Given the description of an element on the screen output the (x, y) to click on. 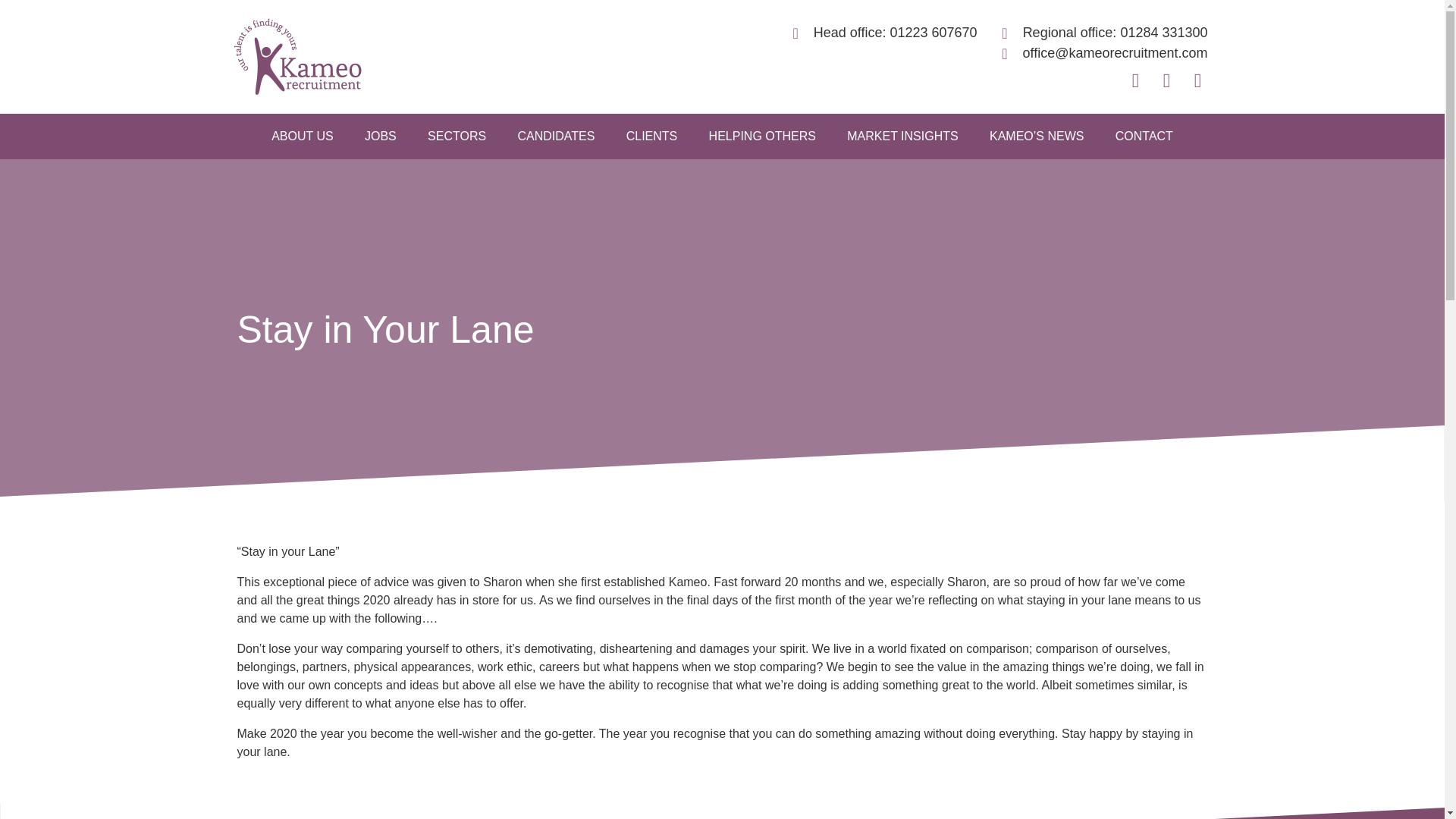
Regional office: 01284 331300 (1098, 32)
HELPING OTHERS (762, 136)
ABOUT US (301, 136)
MARKET INSIGHTS (902, 136)
JOBS (379, 136)
CANDIDATES (555, 136)
CONTACT (1143, 136)
CLIENTS (651, 136)
SECTORS (456, 136)
Head office: 01223 607670 (877, 32)
